Given the description of an element on the screen output the (x, y) to click on. 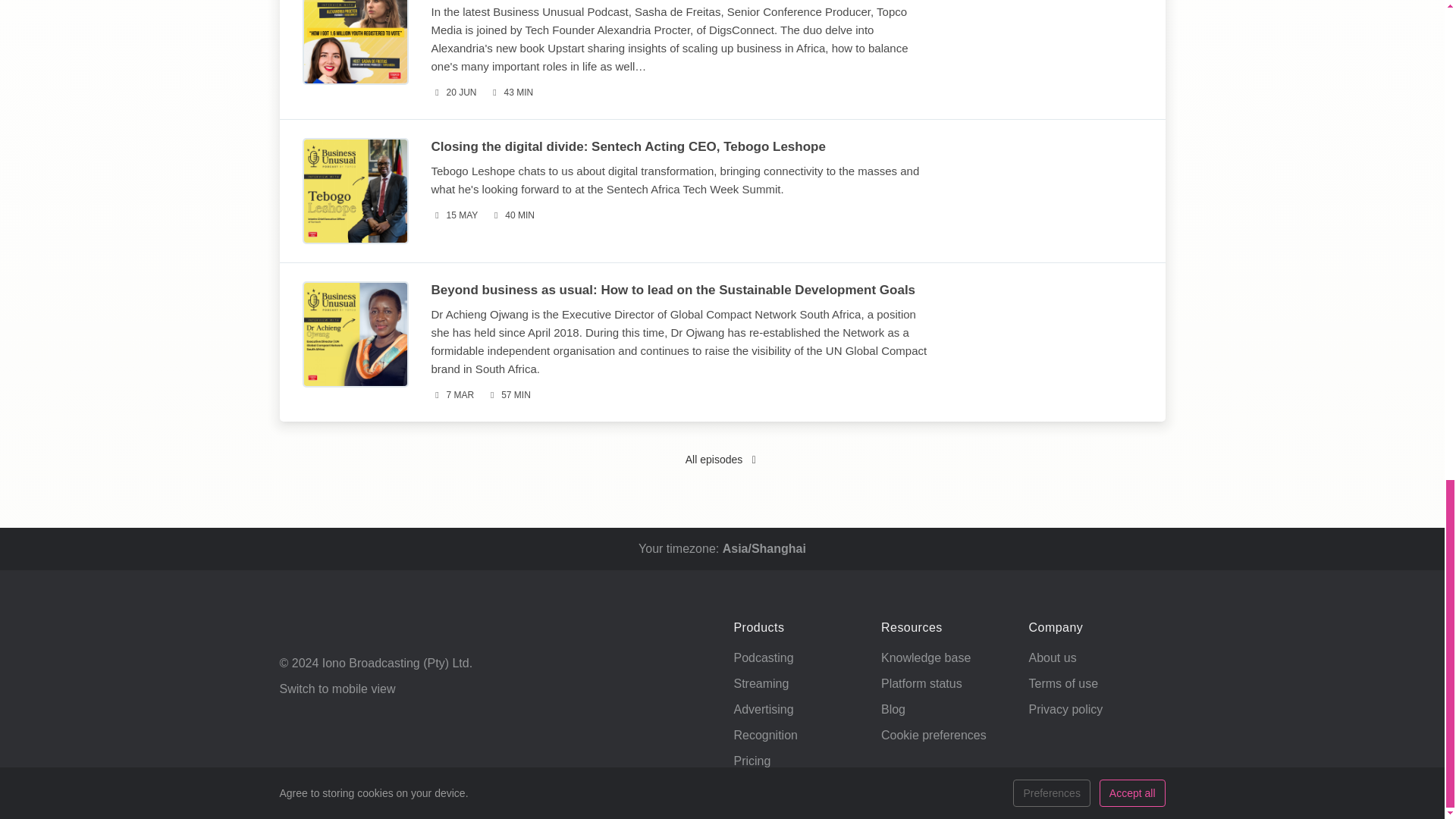
Duration (511, 215)
Published (452, 395)
Duration (508, 395)
Published (453, 92)
Duration (511, 92)
Published (453, 215)
